Given the description of an element on the screen output the (x, y) to click on. 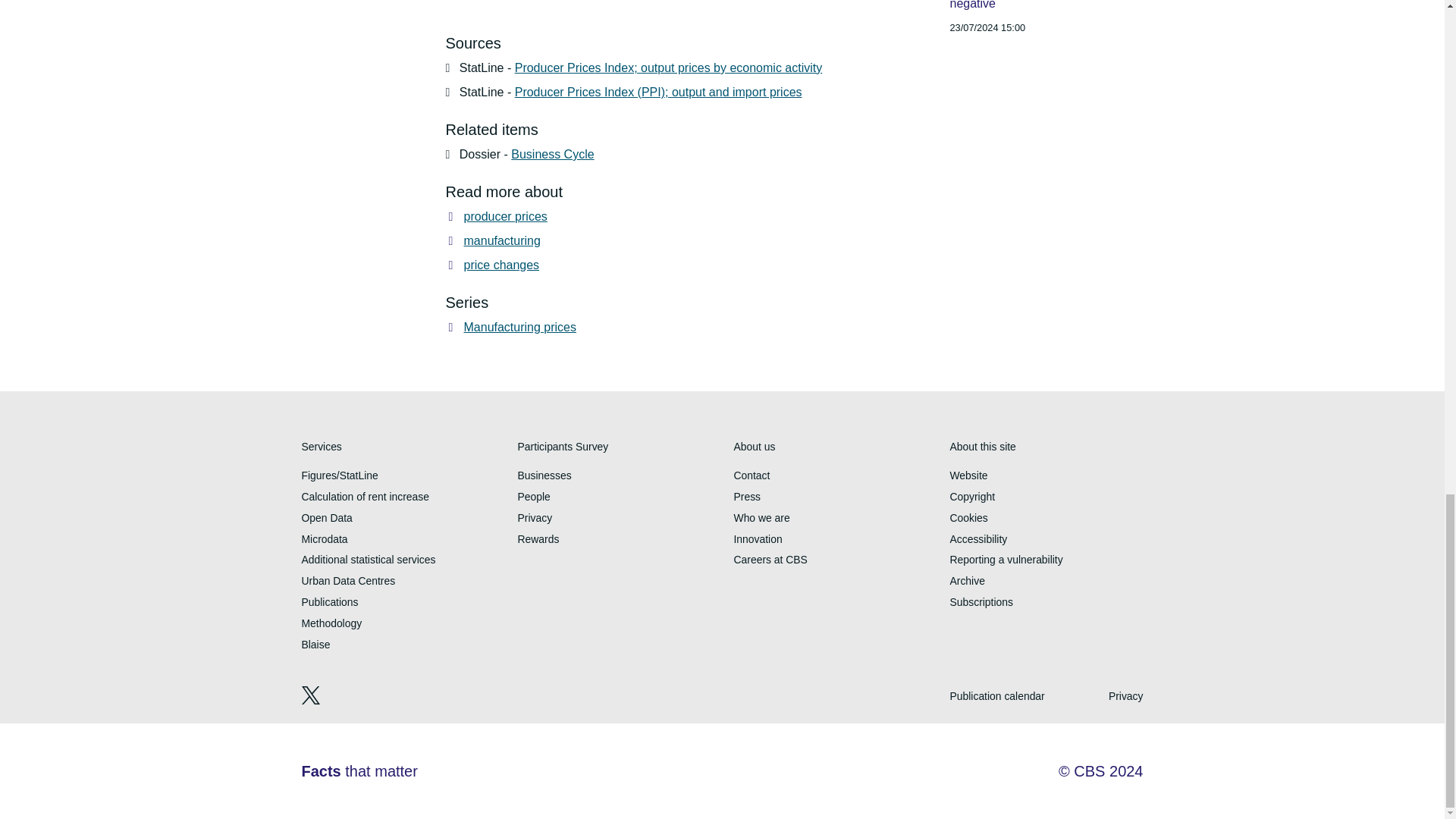
X (312, 700)
